Given the description of an element on the screen output the (x, y) to click on. 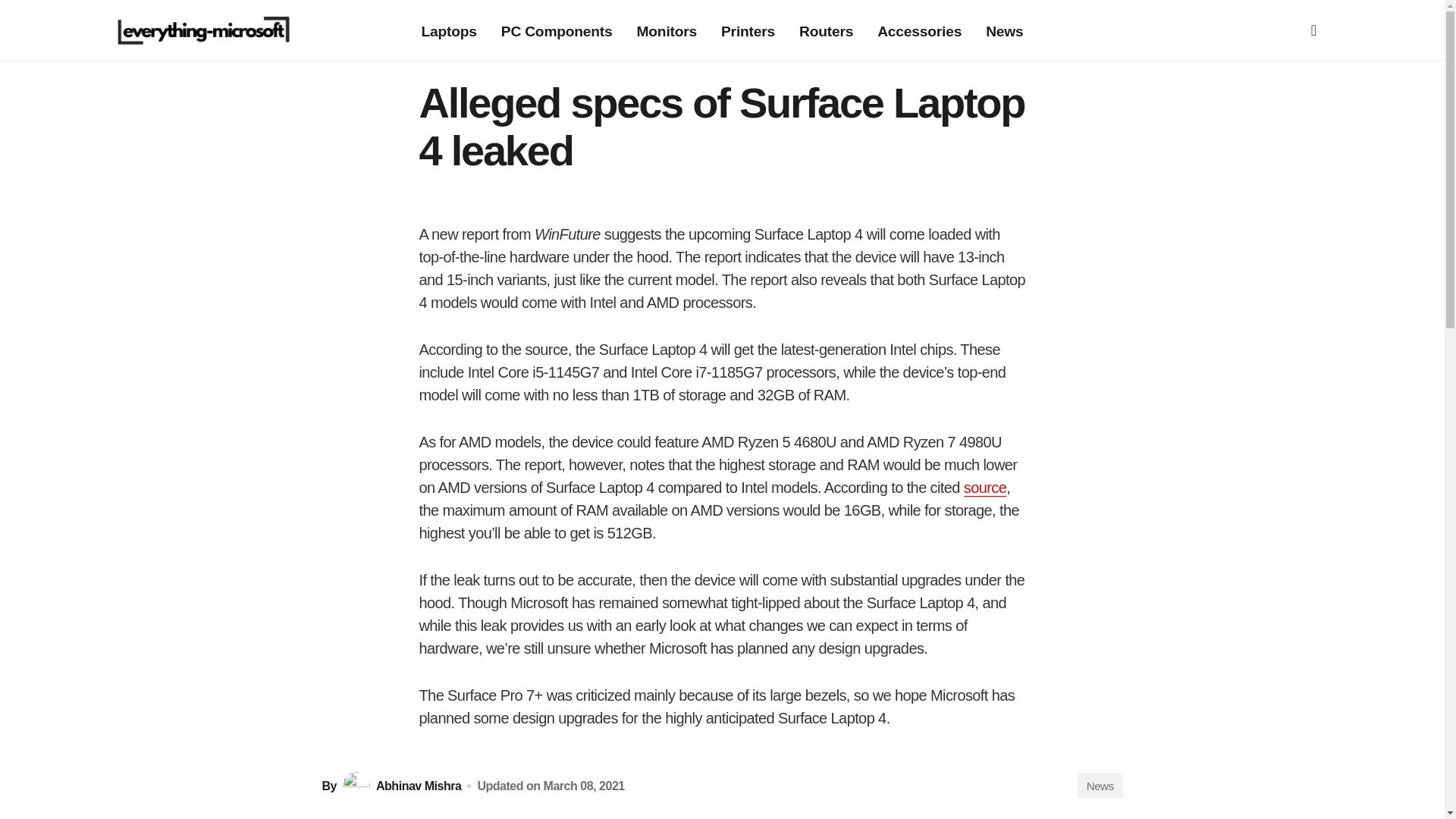
Monitors (667, 30)
Laptops (449, 30)
Accessories (918, 30)
PC Components (556, 30)
source (984, 487)
Abhinav Mishra (400, 785)
News (1099, 785)
